Given the description of an element on the screen output the (x, y) to click on. 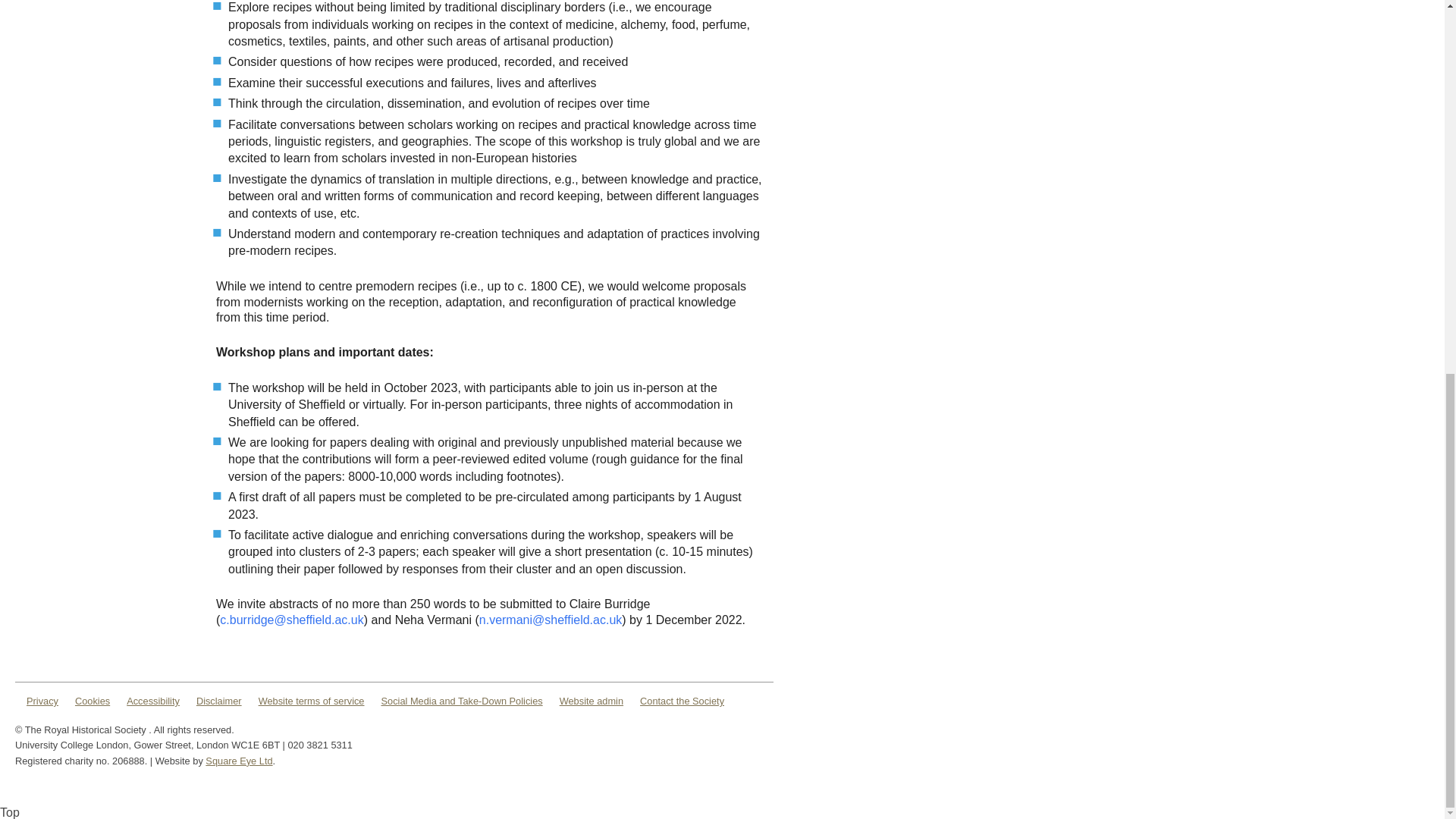
Square Eye Ltd (238, 760)
Cookies (92, 701)
Website terms of service (312, 701)
Social Media and Take-Down Policies (460, 701)
Contact the Society (681, 701)
Accessibility (152, 701)
Website admin (591, 701)
Disclaimer (218, 701)
Privacy (42, 701)
